Given the description of an element on the screen output the (x, y) to click on. 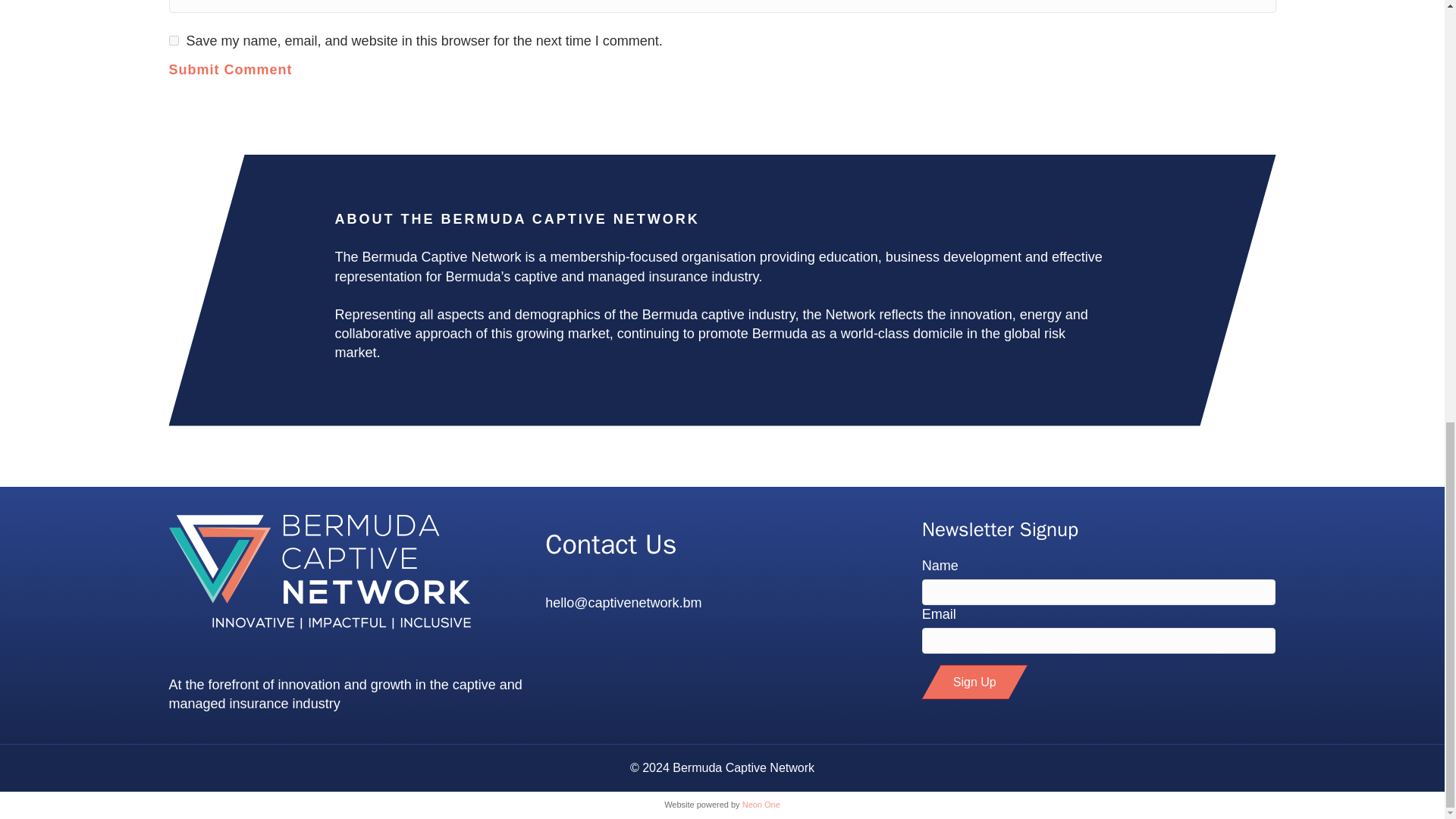
Submit Comment (230, 89)
Sign Up (974, 682)
yes (172, 40)
Neon One (761, 804)
Submit Comment (230, 89)
